Given the description of an element on the screen output the (x, y) to click on. 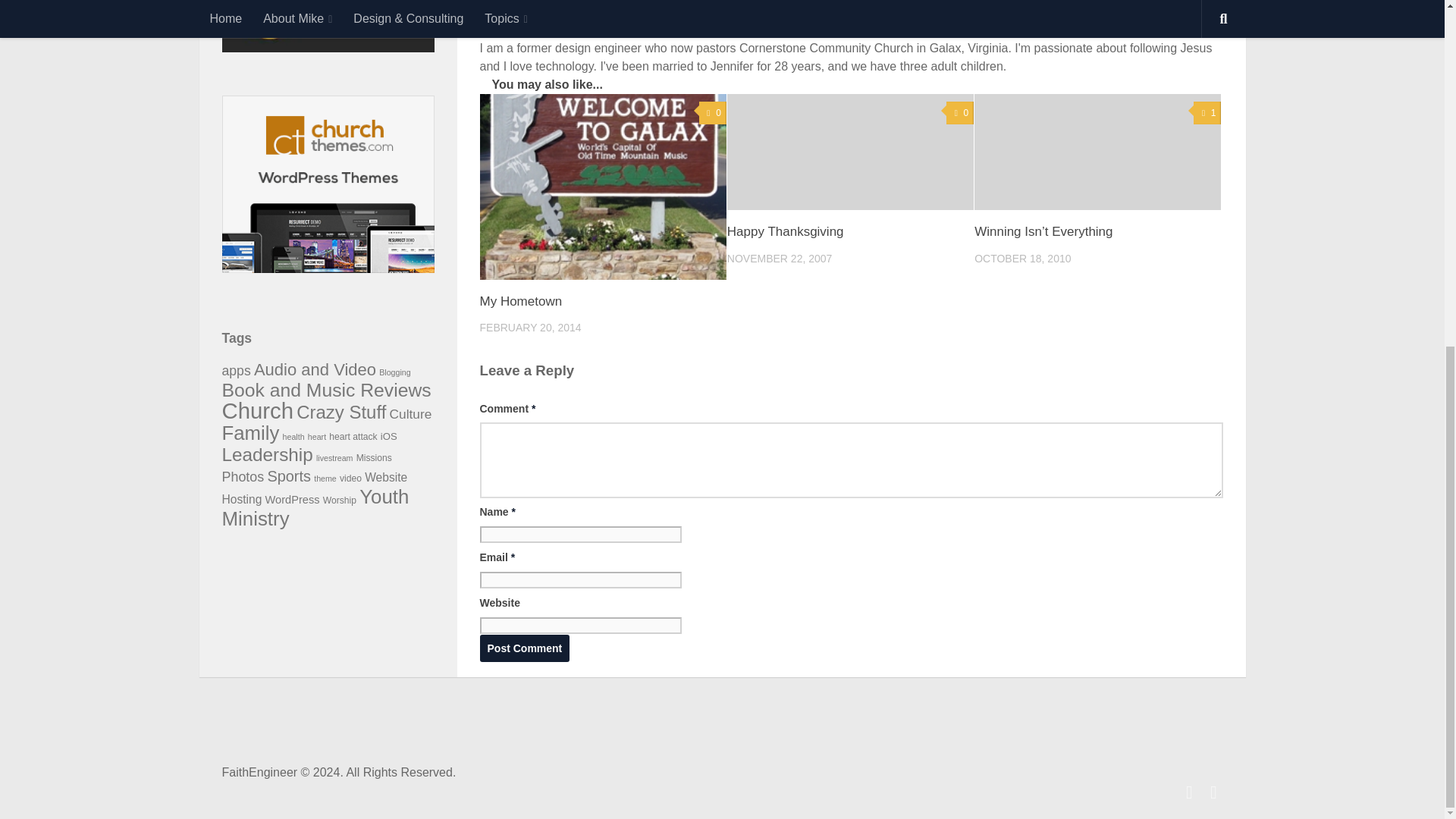
Post Comment (524, 647)
0 (712, 113)
Follow us on Facebook (1188, 791)
